Given the description of an element on the screen output the (x, y) to click on. 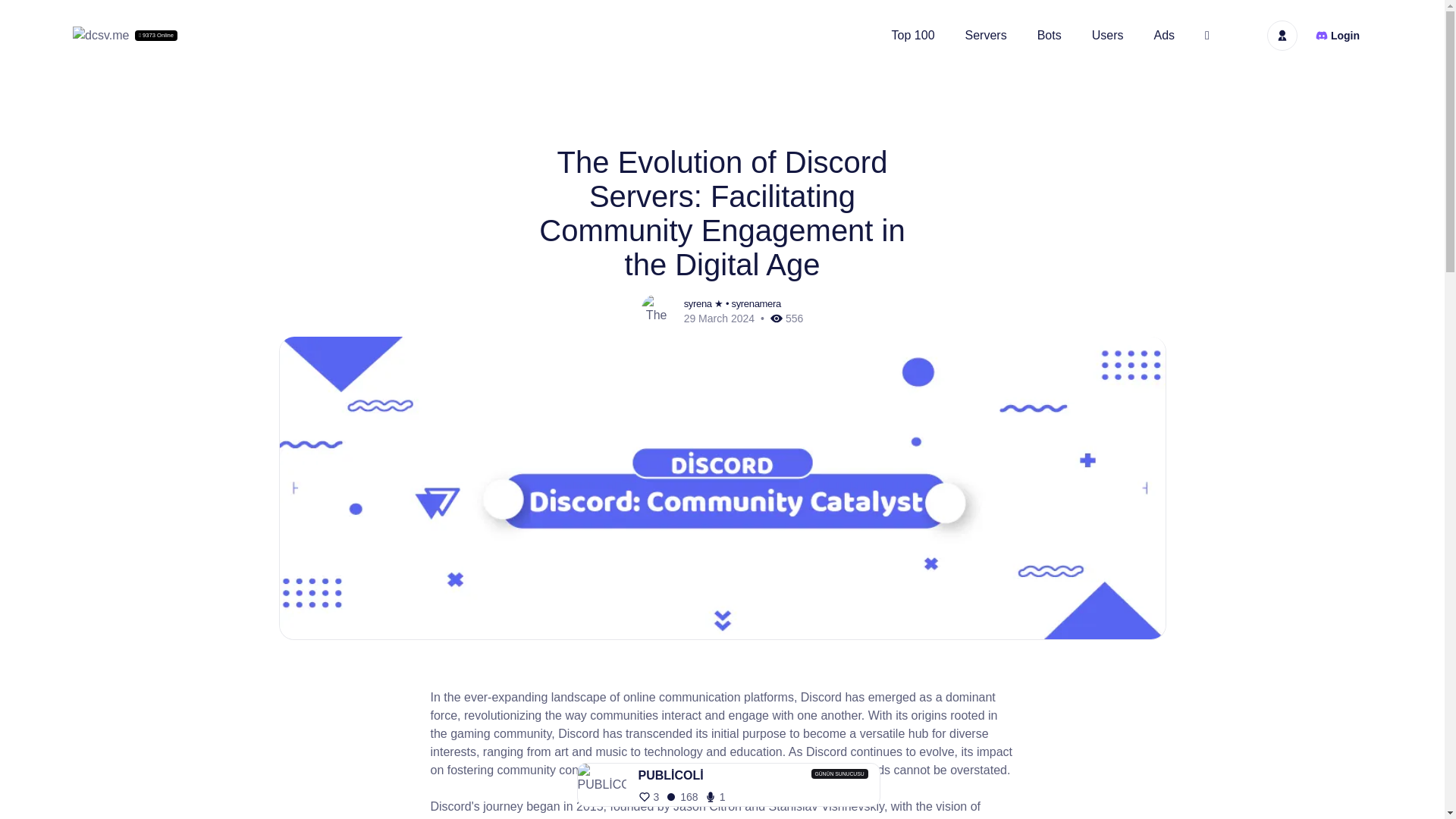
Bots (1049, 35)
Top 100 (913, 35)
Servers (986, 35)
